Given the description of an element on the screen output the (x, y) to click on. 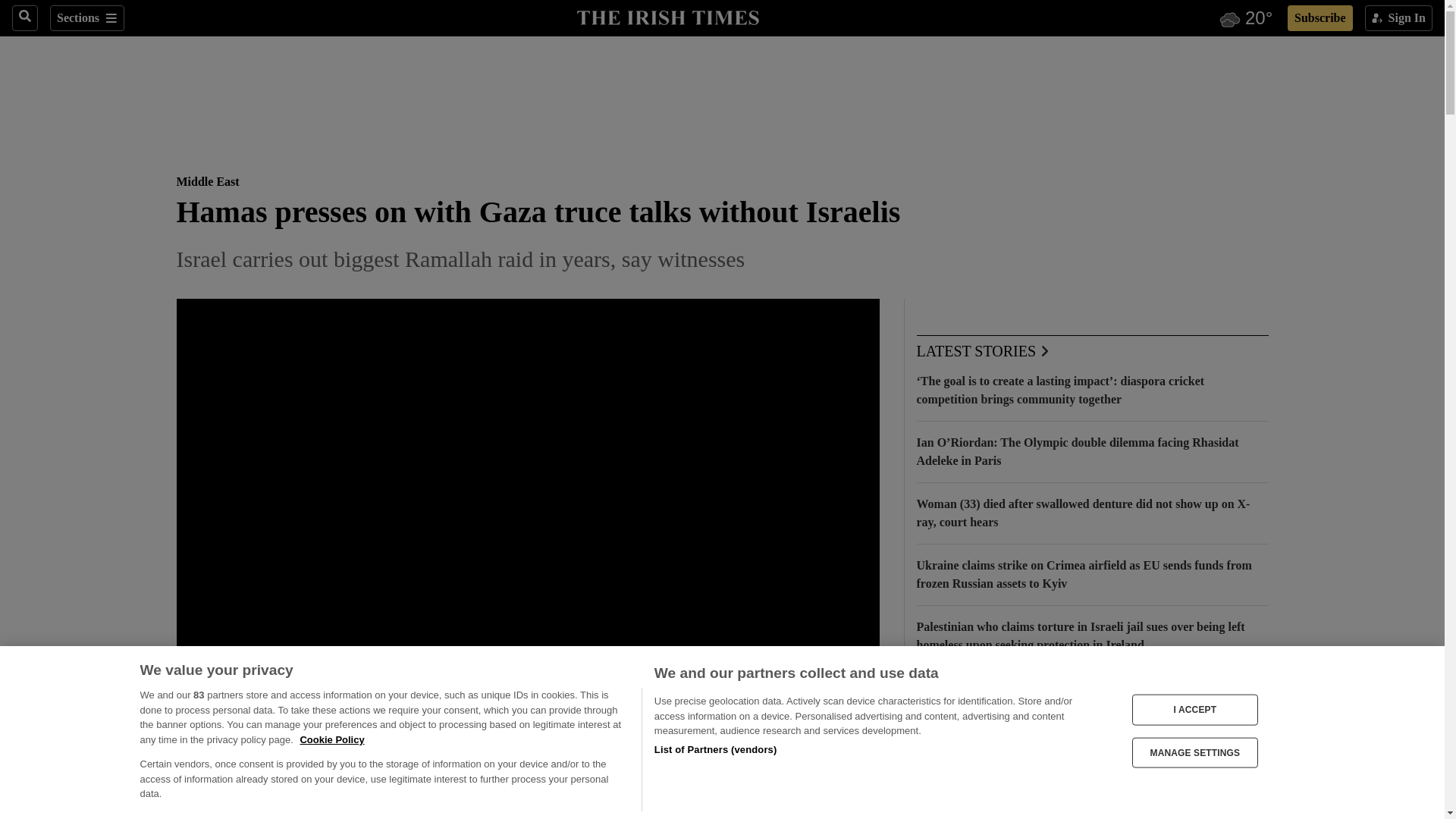
The Irish Times (667, 16)
Subscribe (1319, 17)
Sections (86, 17)
Sign In (1398, 17)
